Given the description of an element on the screen output the (x, y) to click on. 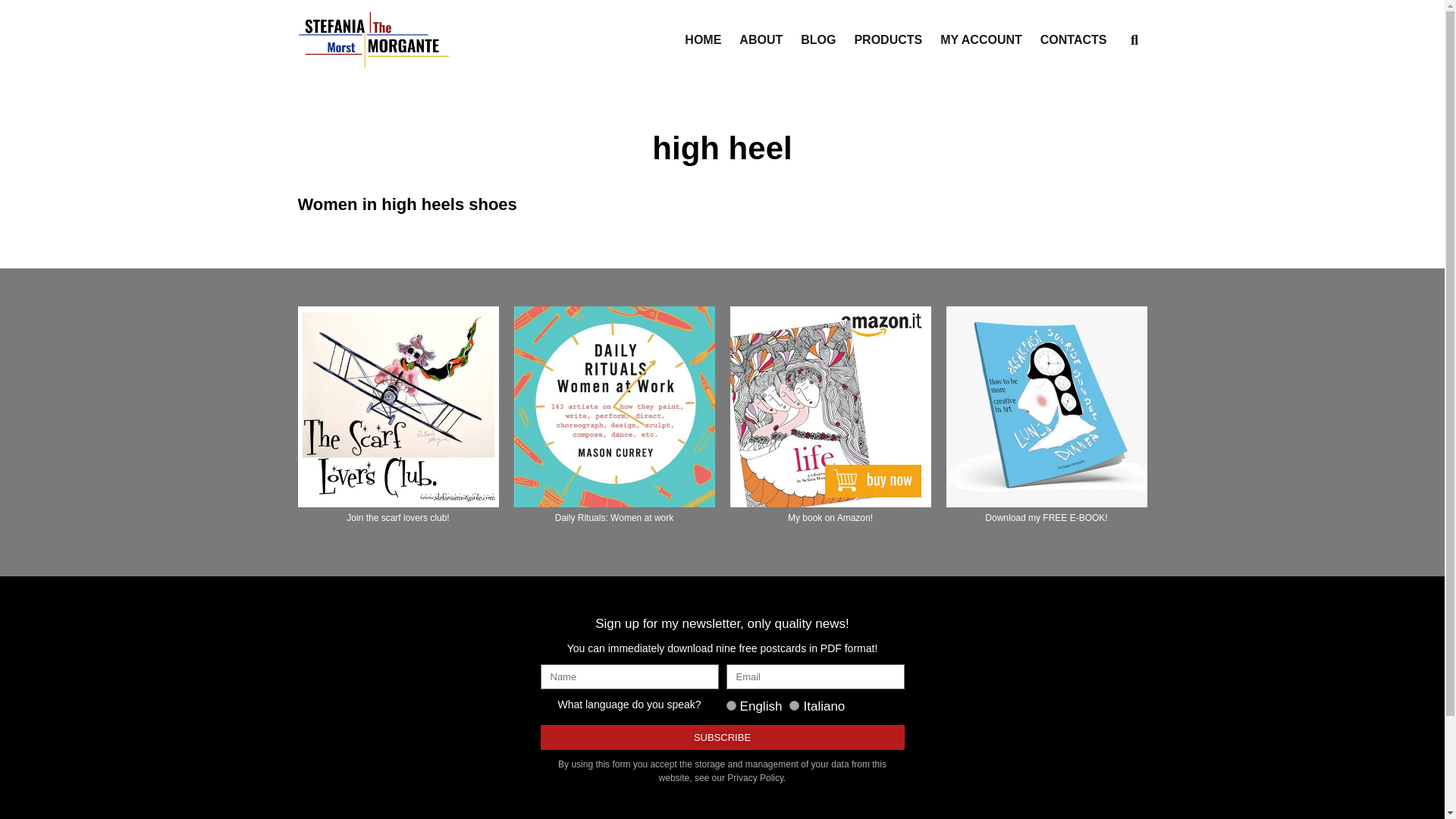
How to be more creative in Art free download (1046, 406)
Masoncurrey (613, 406)
HOME (702, 39)
My book on Amazon (829, 406)
PRODUCTS (887, 39)
MY ACCOUNT (981, 39)
CONTACTS (1073, 39)
IT (794, 705)
ABOUT (761, 39)
the scarf lovers club (397, 406)
EN (731, 705)
BLOG (817, 39)
